Given the description of an element on the screen output the (x, y) to click on. 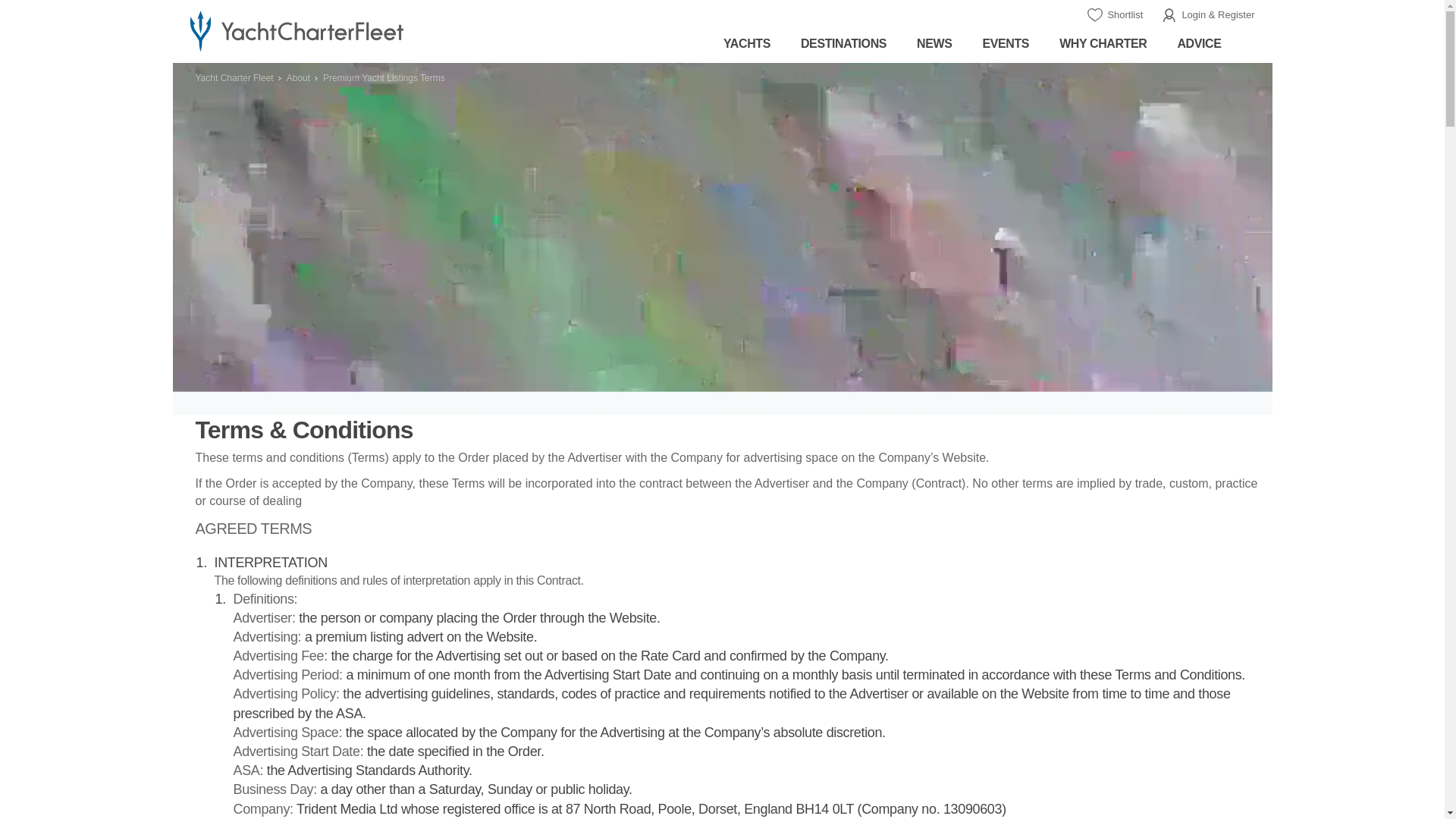
Back to Homepage (343, 30)
